Given the description of an element on the screen output the (x, y) to click on. 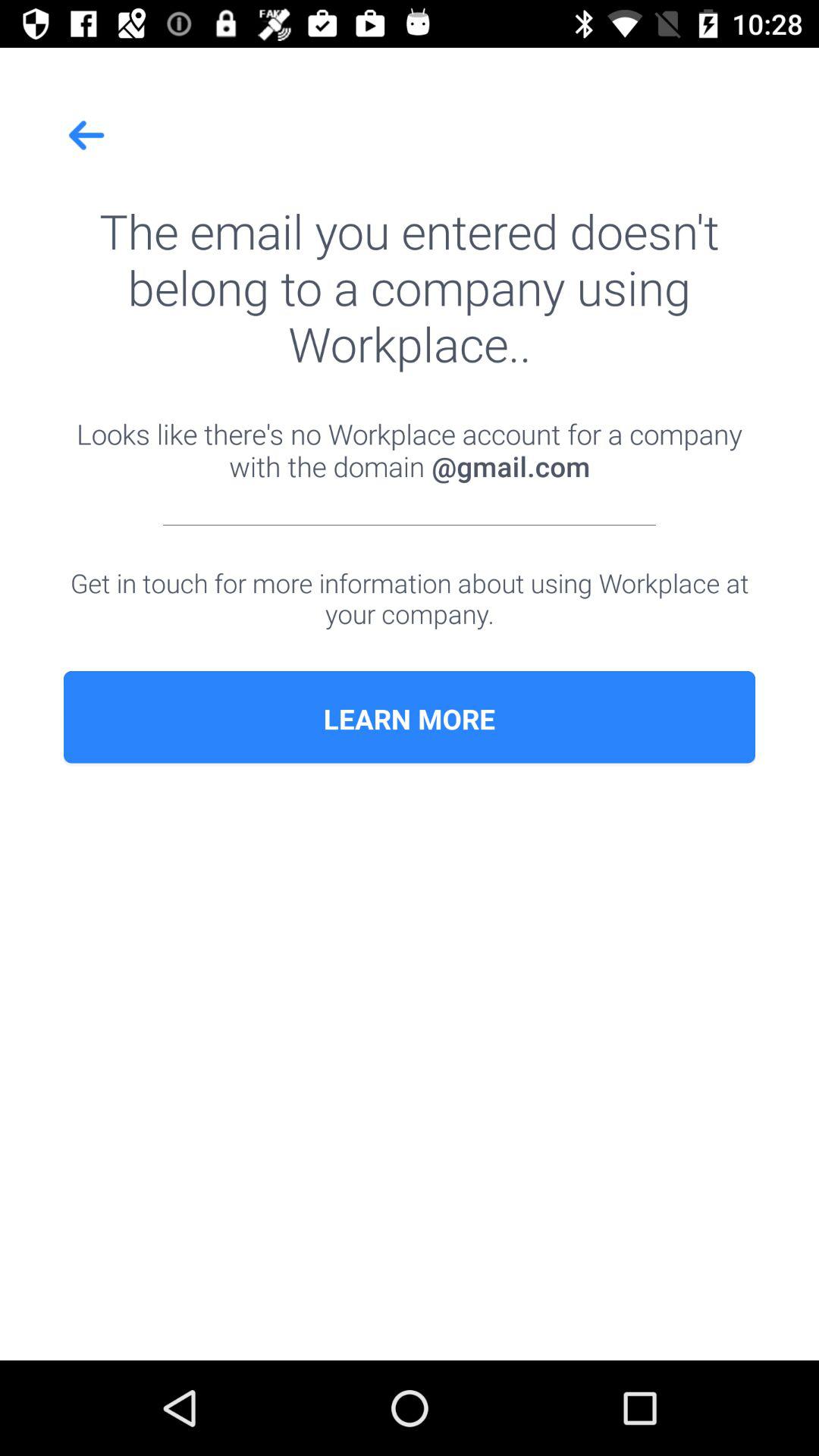
choose icon at the top left corner (87, 135)
